Given the description of an element on the screen output the (x, y) to click on. 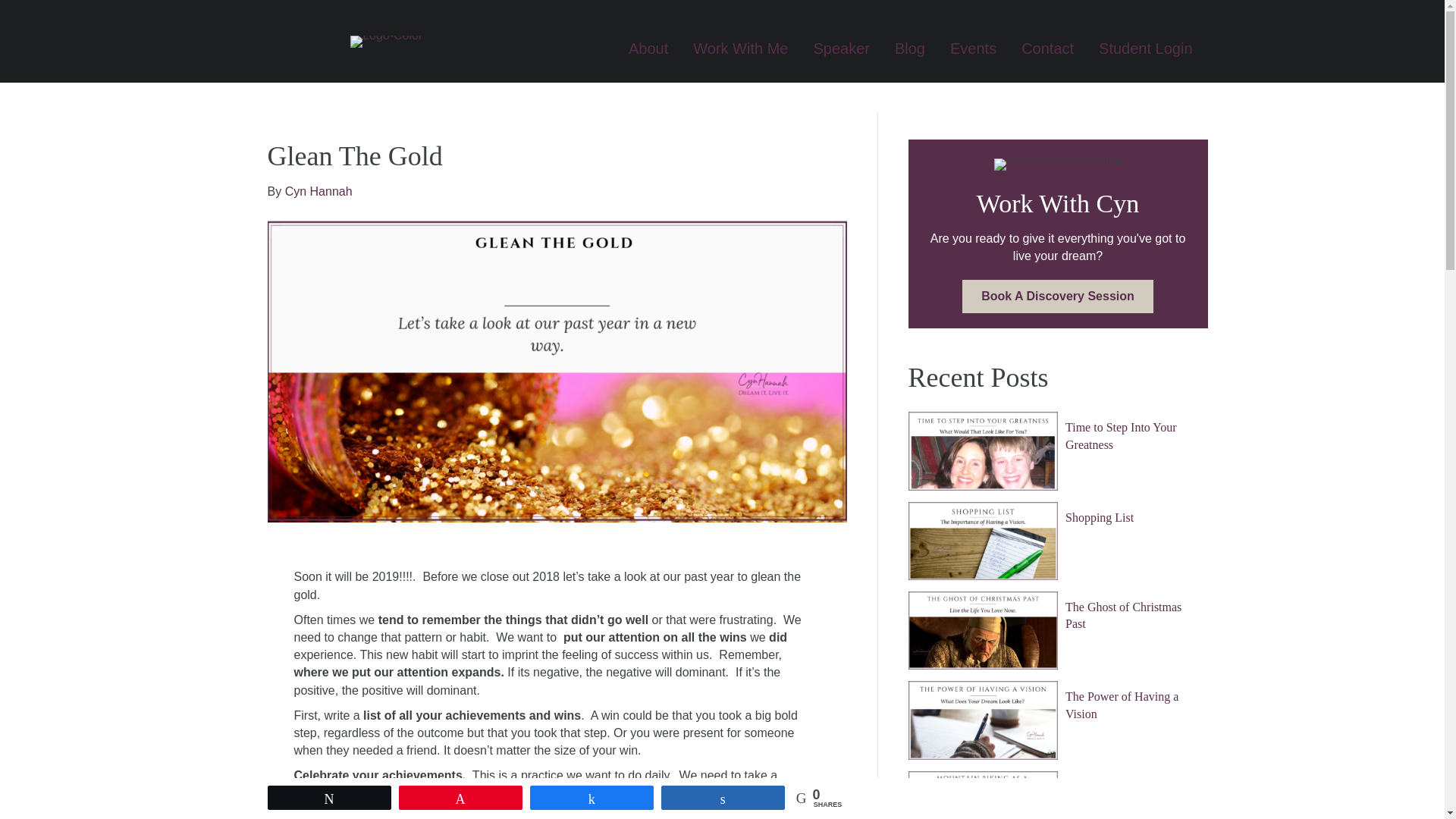
Time to Step Into Your Greatness (1120, 435)
The Power of Having a Vision (1121, 704)
Work With Me (740, 48)
The Power of Having a Vision (1121, 704)
Speaker (841, 48)
Logo-Color (386, 40)
Mountain Biking as a Metaphor for Life (983, 795)
Events (973, 48)
Student Login (1145, 48)
Cyn Hannah (318, 191)
